Given the description of an element on the screen output the (x, y) to click on. 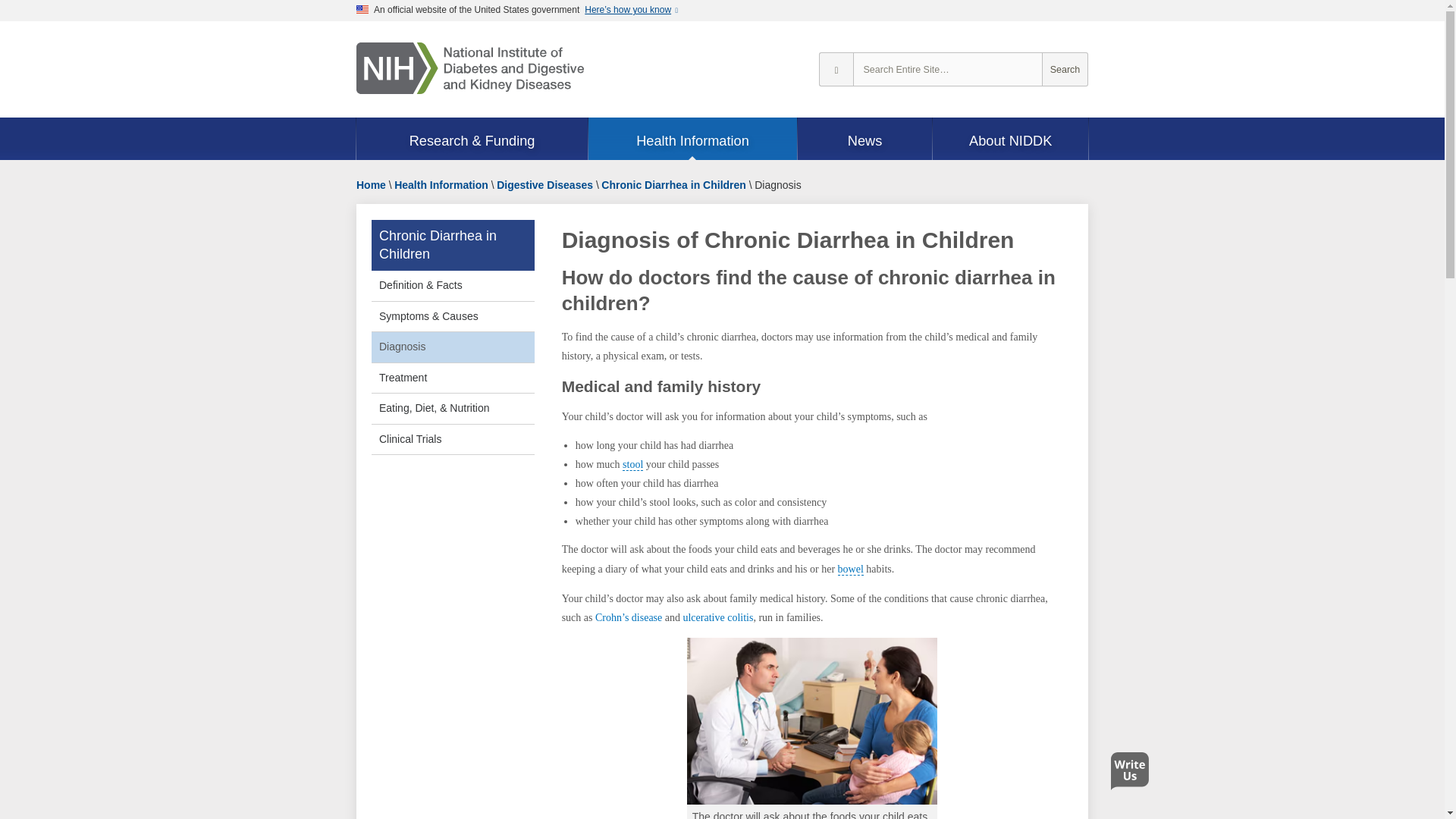
Search (1064, 69)
Health Information (692, 139)
Change search scope (835, 69)
News (865, 139)
Write us (1133, 774)
Search Entire Site (1064, 69)
